Given the description of an element on the screen output the (x, y) to click on. 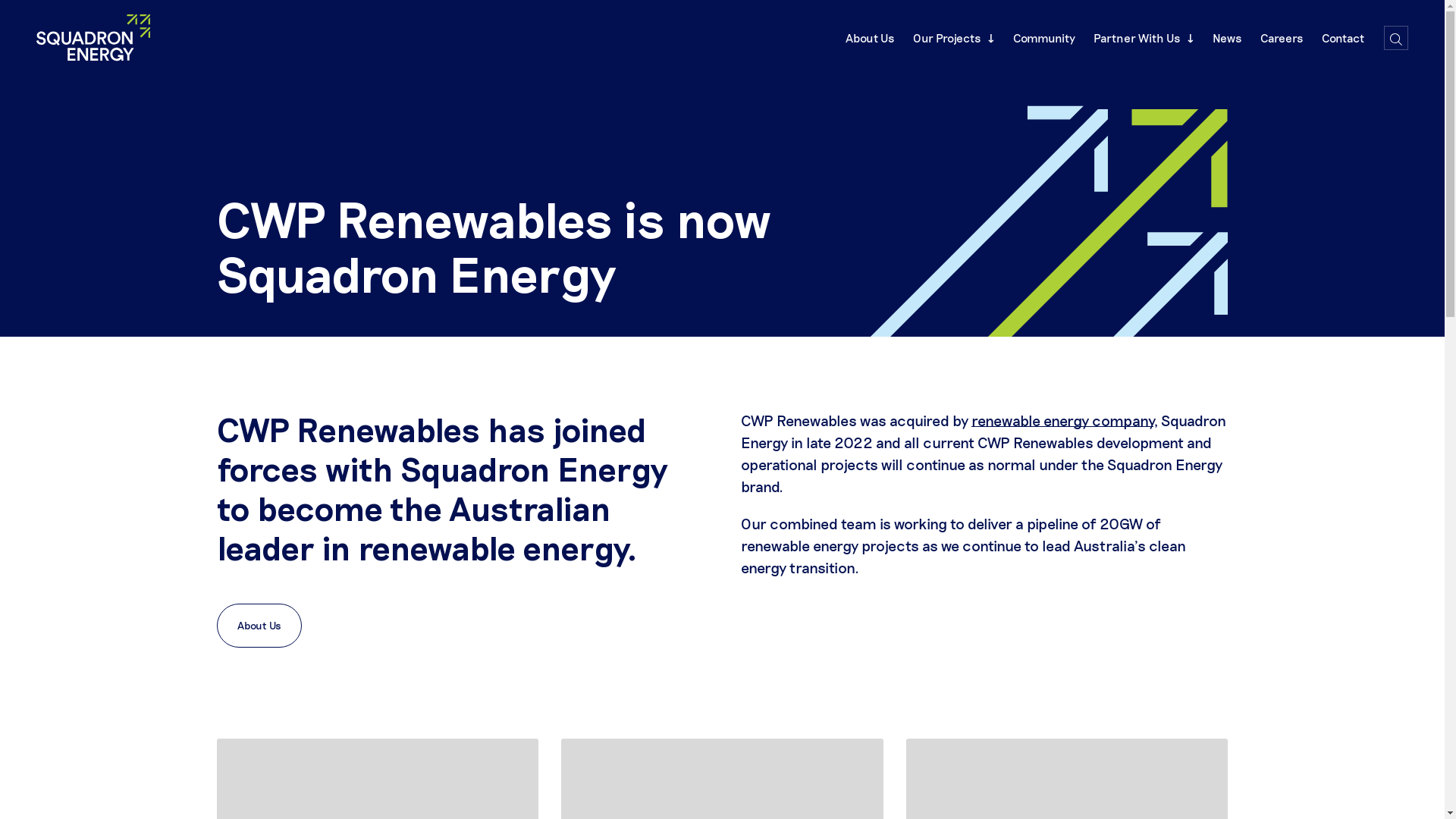
News Element type: text (1227, 37)
About Us Element type: text (258, 625)
Careers Element type: text (1281, 37)
renewable energy company Element type: text (1061, 420)
About Us Element type: text (869, 37)
Contact Element type: text (1342, 37)
Partner With Us Element type: text (1143, 37)
Community Element type: text (1044, 37)
Our Projects Element type: text (953, 37)
